Given the description of an element on the screen output the (x, y) to click on. 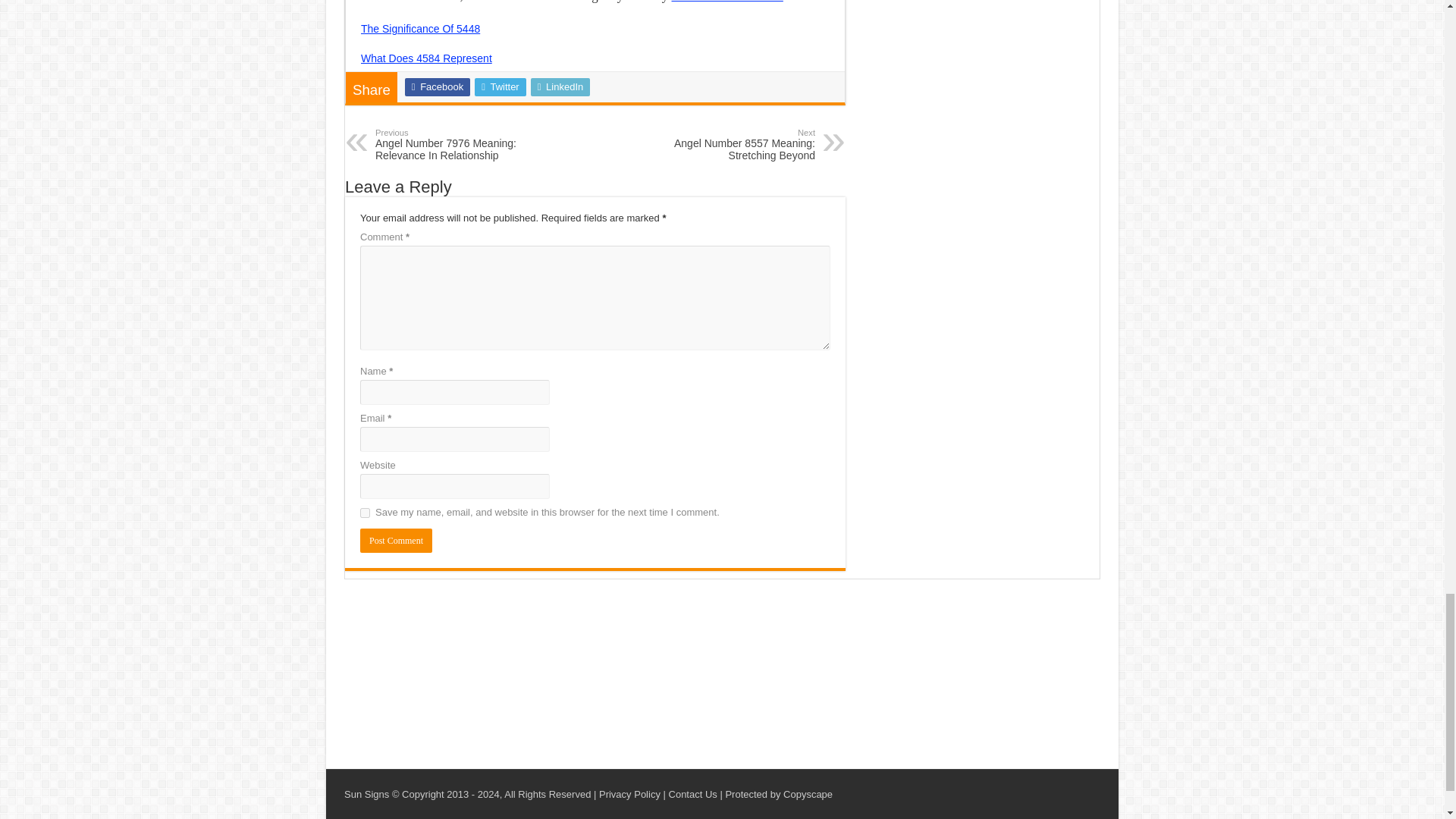
What Does 4584 Represent (426, 58)
What Does 4584 Represent (426, 58)
Post Comment (395, 540)
The Significance Of 5448 (420, 28)
reason to smile in life (727, 1)
Facebook (437, 86)
Twitter (499, 86)
LinkedIn (561, 86)
The Significance Of 5448 (420, 28)
